Given the description of an element on the screen output the (x, y) to click on. 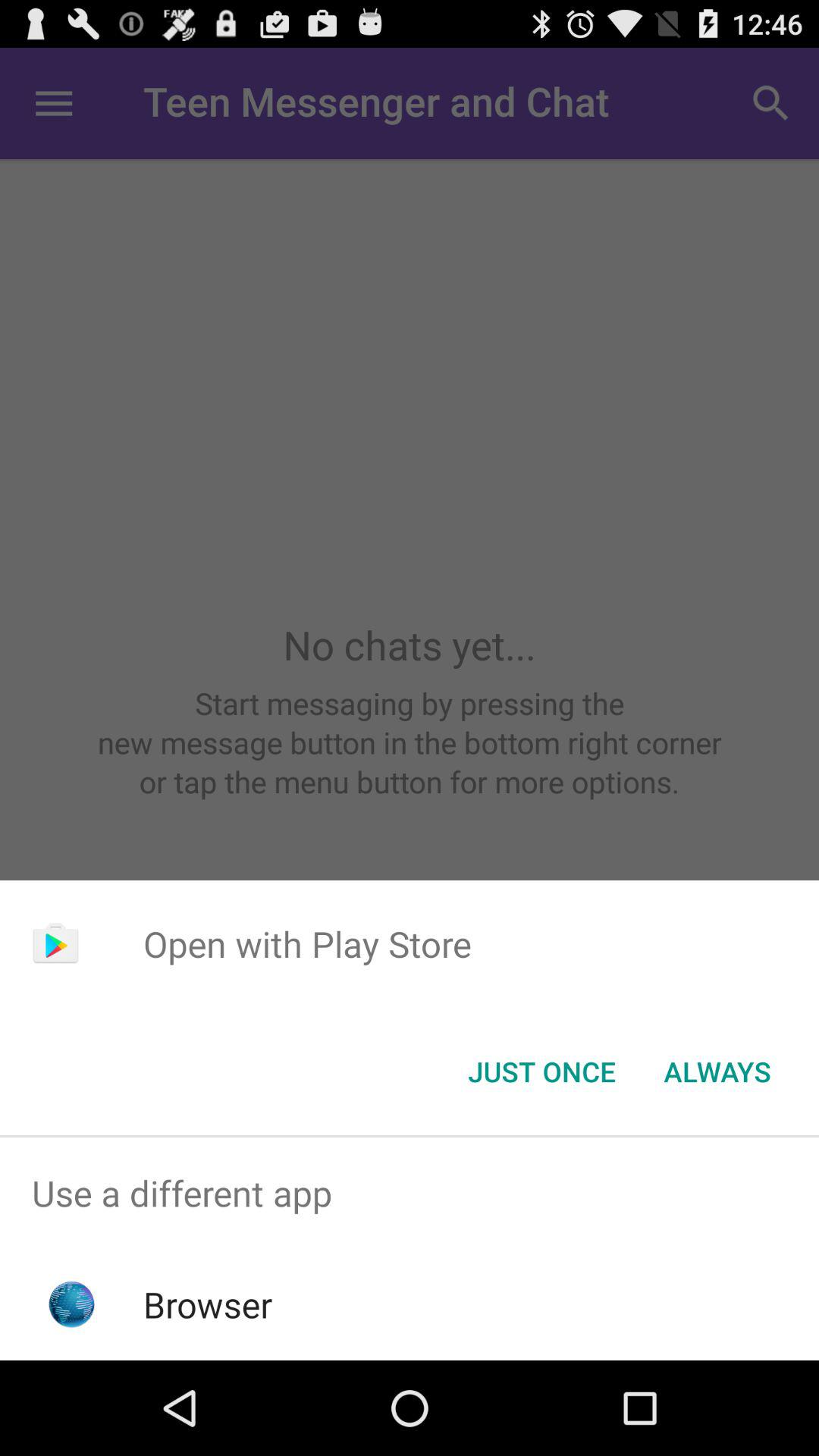
scroll until just once item (541, 1071)
